Given the description of an element on the screen output the (x, y) to click on. 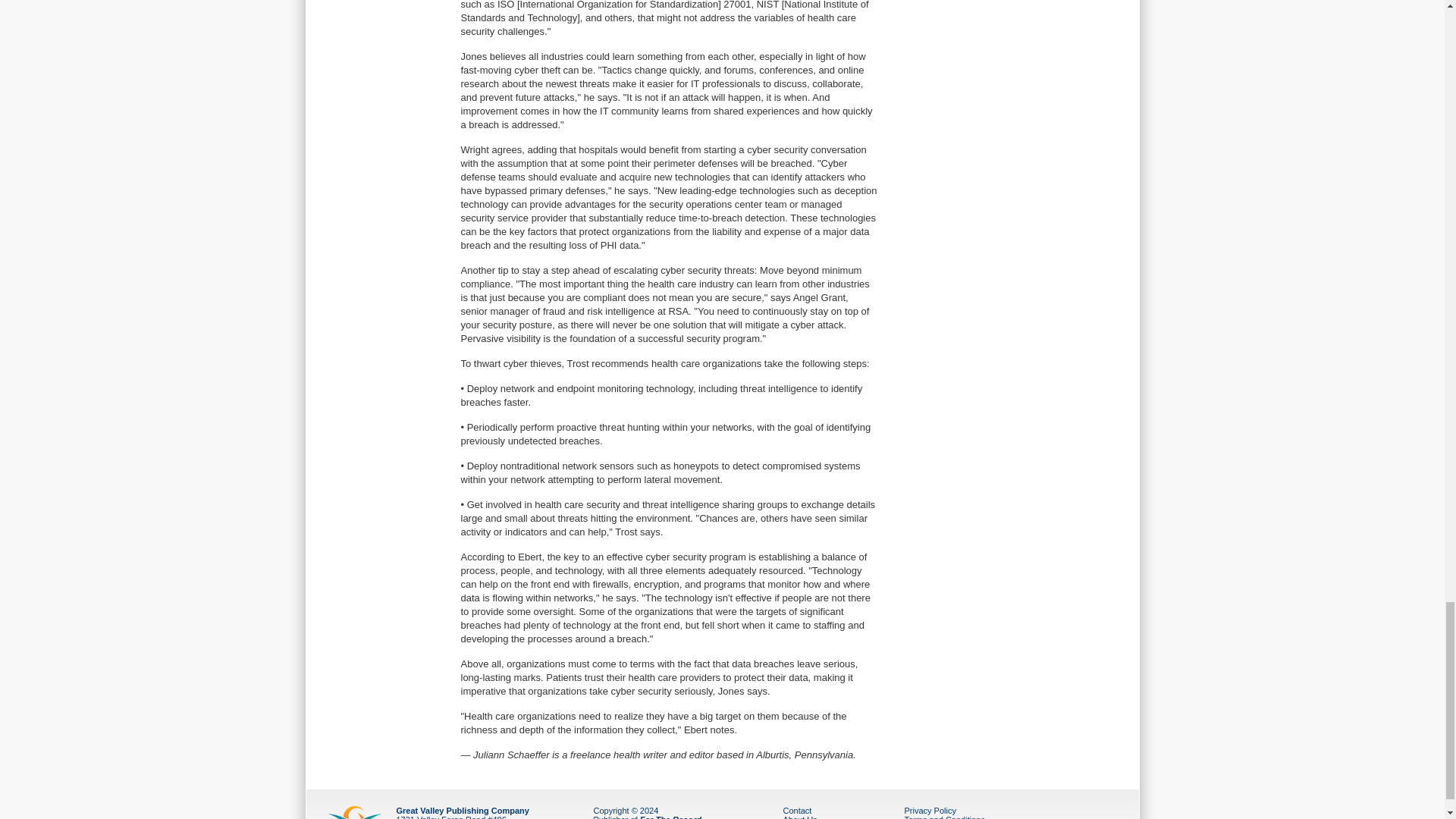
Contact (796, 809)
Privacy Policy (929, 809)
About Us (799, 816)
Terms and Conditions (944, 816)
